Given the description of an element on the screen output the (x, y) to click on. 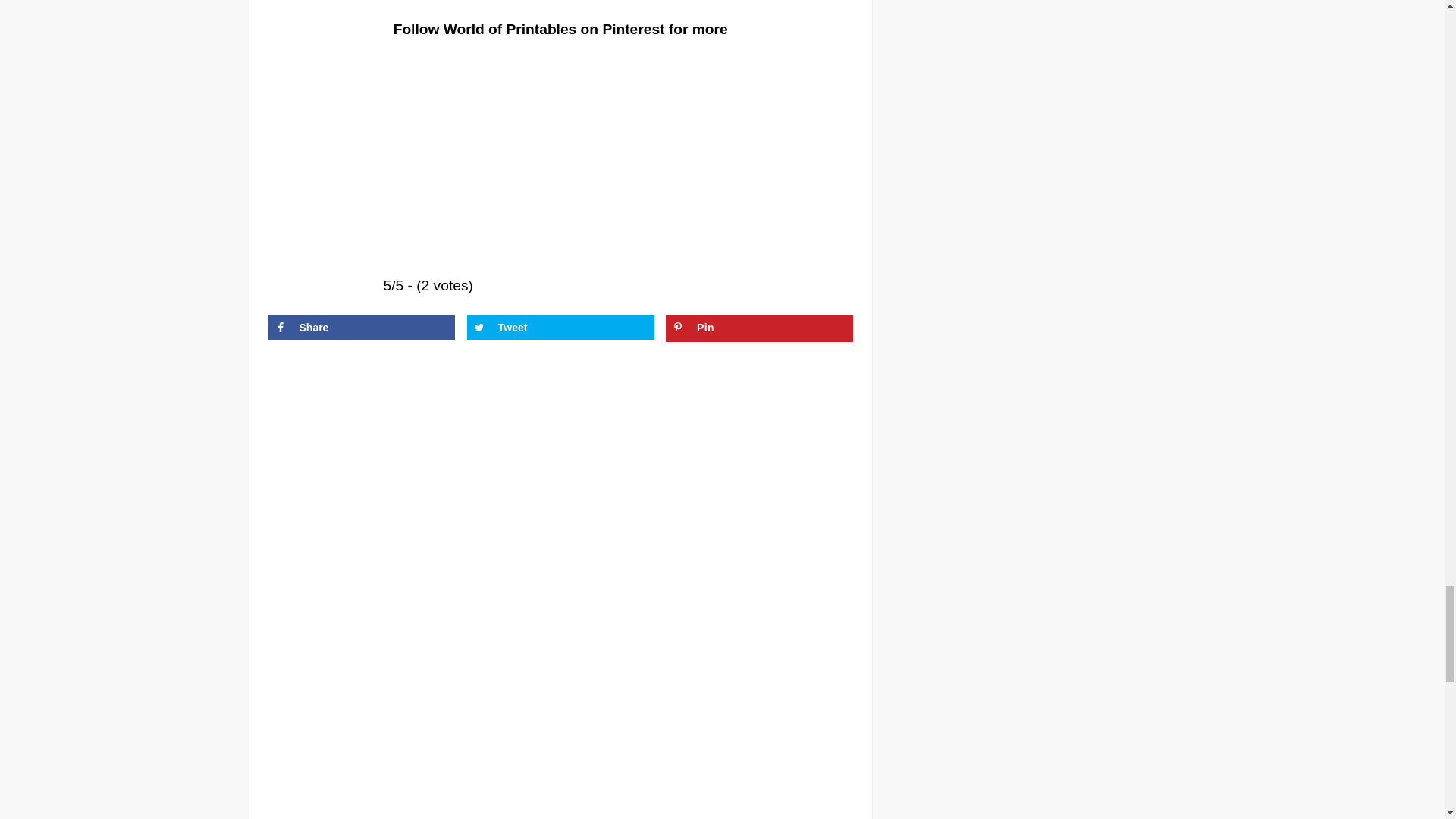
Share on Twitter (560, 327)
Save to Pinterest (759, 328)
Share on Facebook (361, 327)
